Given the description of an element on the screen output the (x, y) to click on. 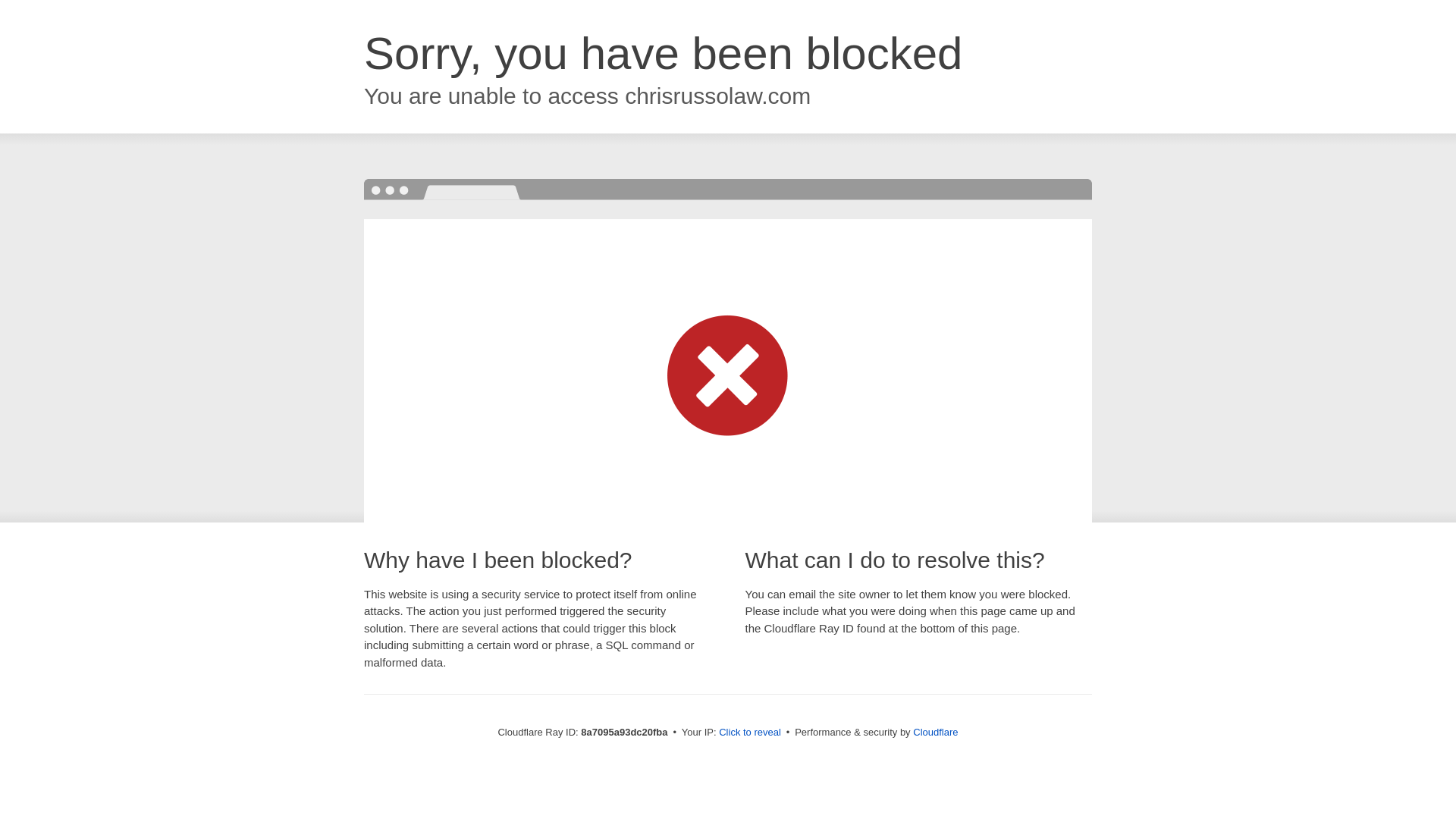
Click to reveal (749, 732)
Cloudflare (935, 731)
